Given the description of an element on the screen output the (x, y) to click on. 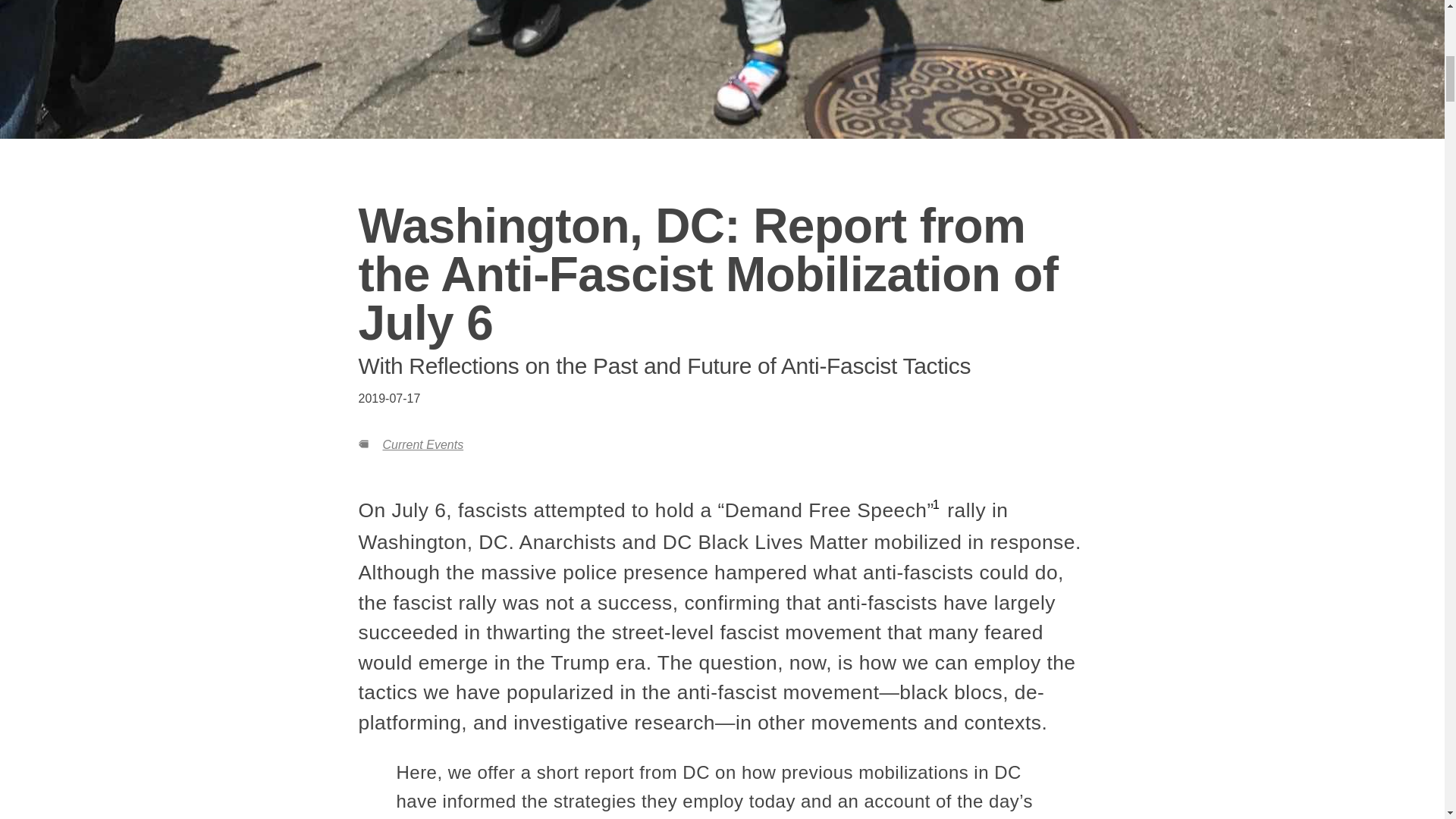
Current Events (422, 444)
